Given the description of an element on the screen output the (x, y) to click on. 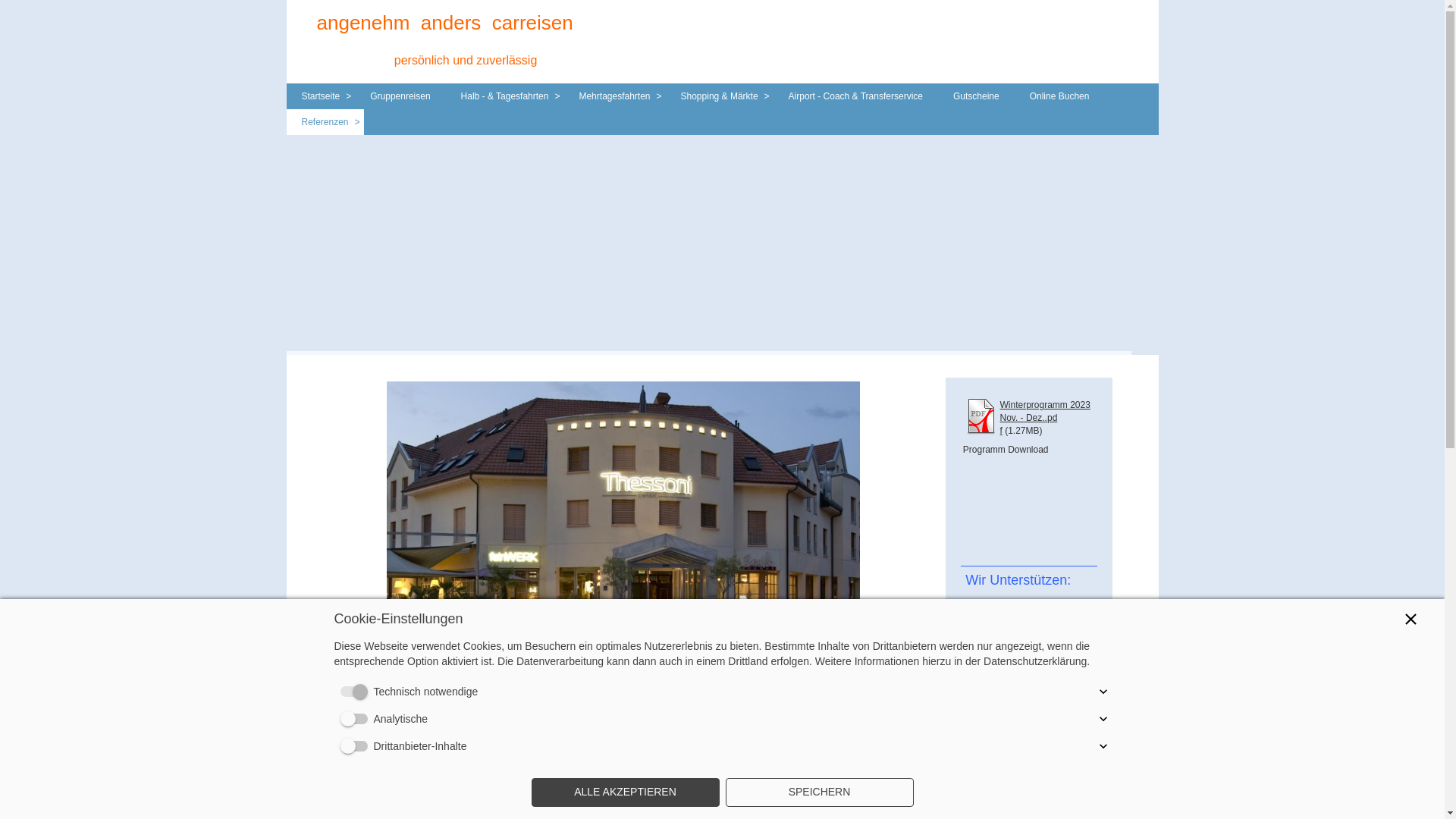
Airport - Coach & Transferservice Element type: text (855, 96)
Startseite Element type: text (320, 96)
ALLE AKZEPTIEREN Element type: text (624, 792)
Mehrtagesfahrten Element type: text (614, 96)
Gutscheine Element type: text (976, 96)
Winterprogramm 2023 Nov. - Dez..pdf Element type: text (1044, 417)
Referenzen Element type: text (325, 121)
Online Buchen Element type: text (1059, 96)
Halb - & Tagesfahrten Element type: text (504, 96)
SPEICHERN Element type: text (818, 792)
Gruppenreisen Element type: text (399, 96)
